Given the description of an element on the screen output the (x, y) to click on. 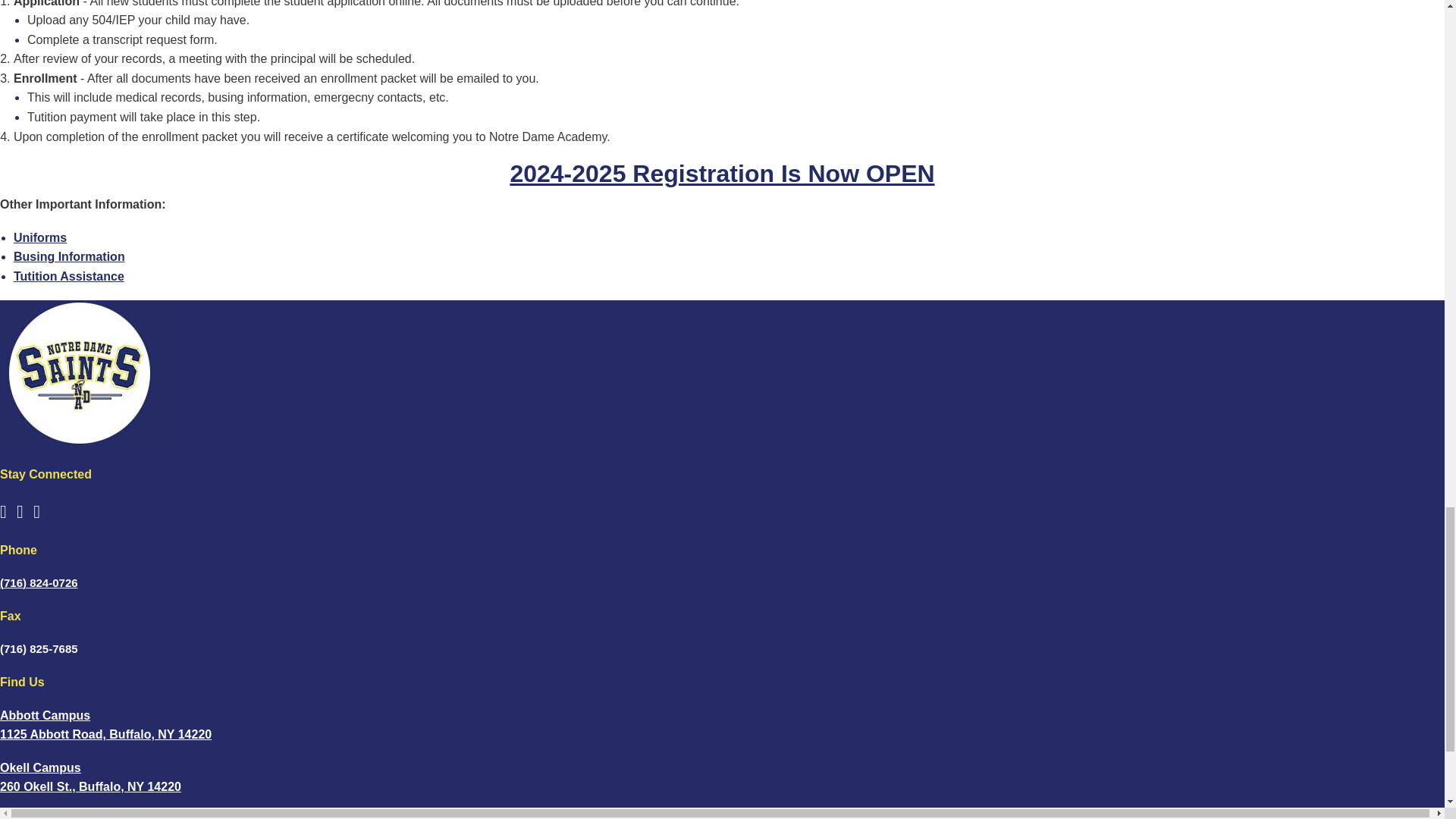
Notre Dame Academy - Buffalo Catholic School (85, 375)
